Given the description of an element on the screen output the (x, y) to click on. 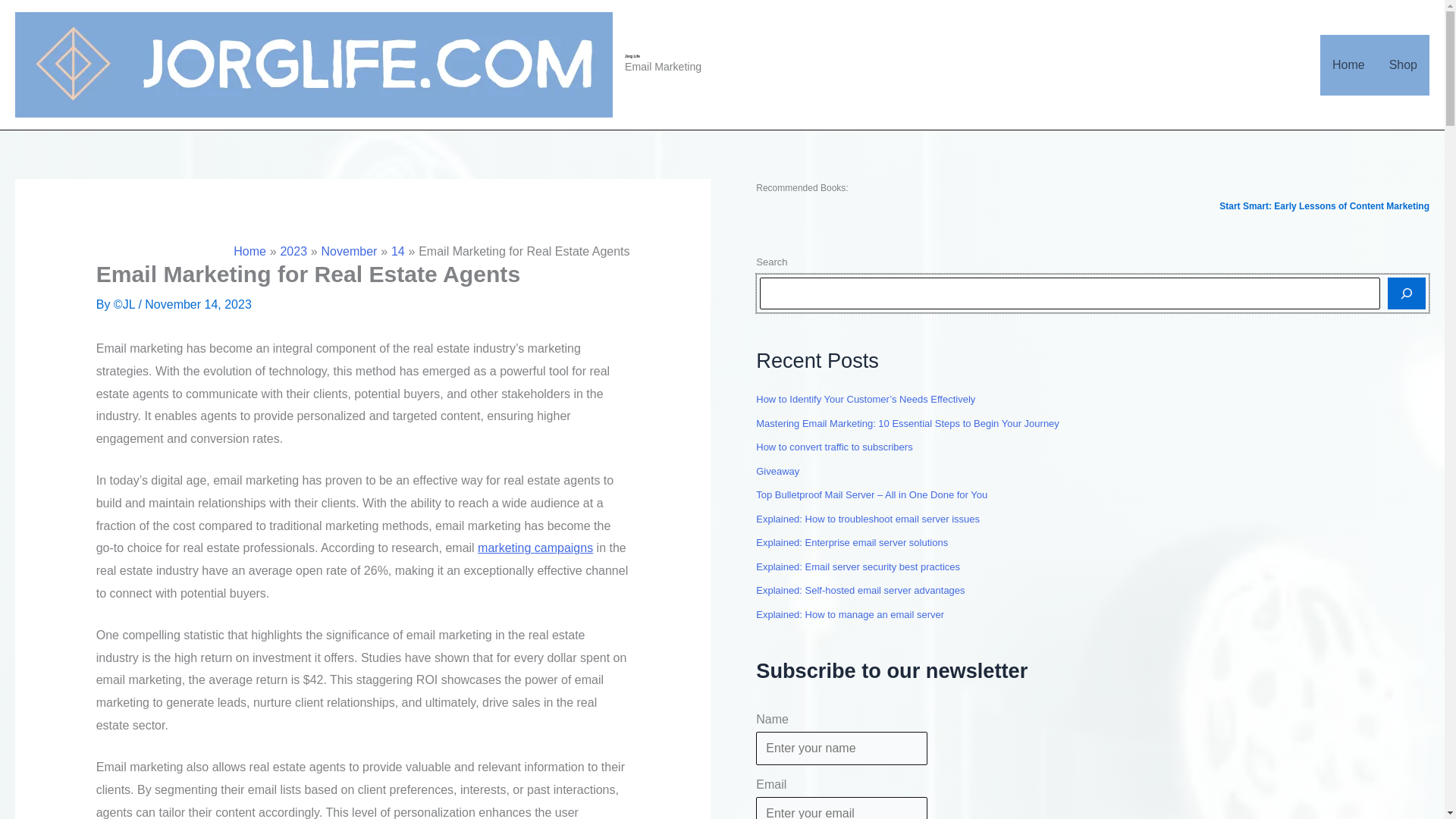
Home (249, 250)
November (349, 250)
Jorg Life (632, 56)
Home (1348, 65)
Explained: How to troubleshoot email server issues (867, 518)
Giveaway (777, 471)
2023 (293, 250)
14 (397, 250)
Start Smart: Early Lessons of Content Marketing (1324, 205)
How to convert traffic to subscribers (833, 446)
marketing campaigns (534, 547)
